Given the description of an element on the screen output the (x, y) to click on. 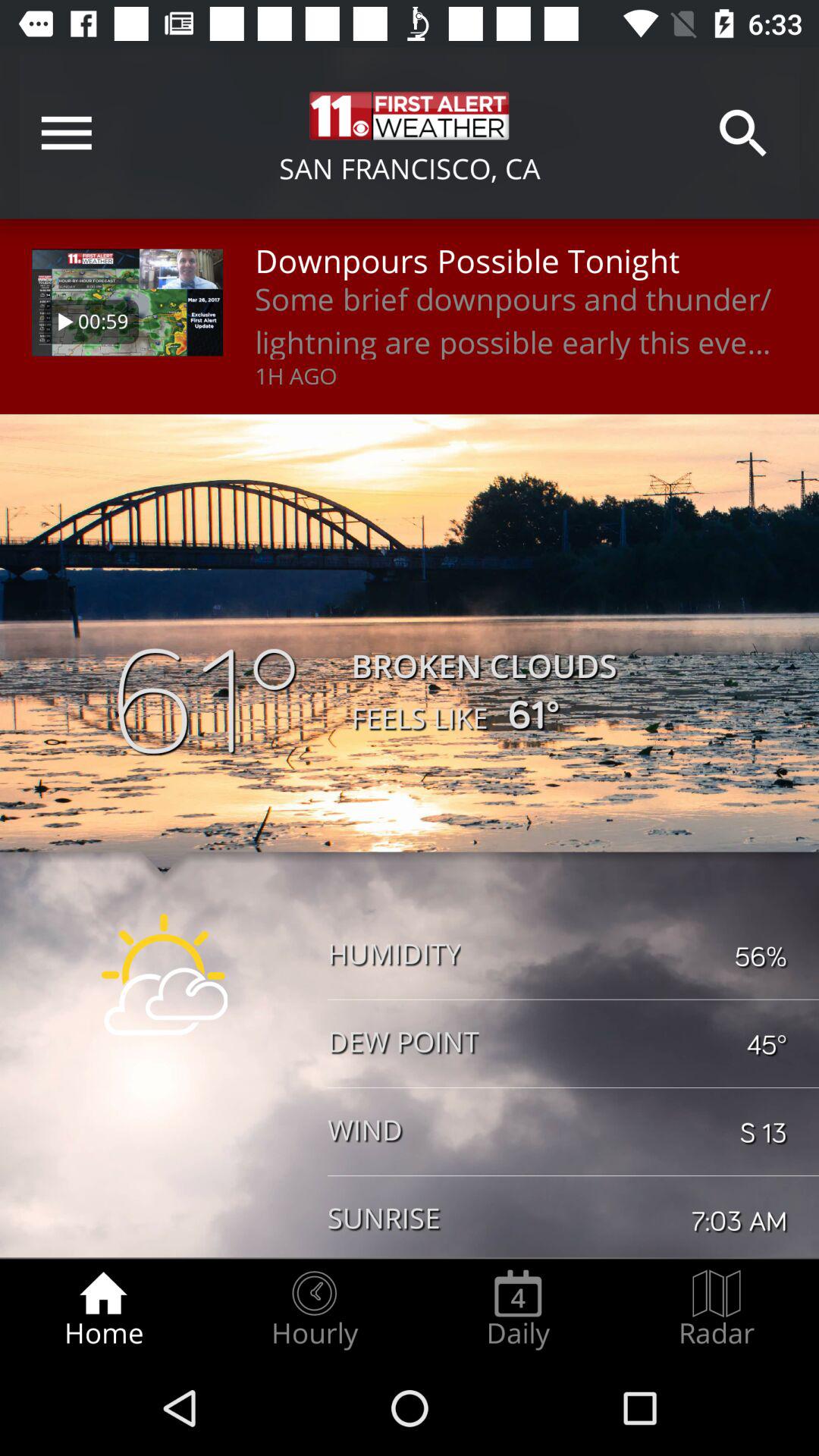
select radio button to the right of daily (716, 1309)
